Given the description of an element on the screen output the (x, y) to click on. 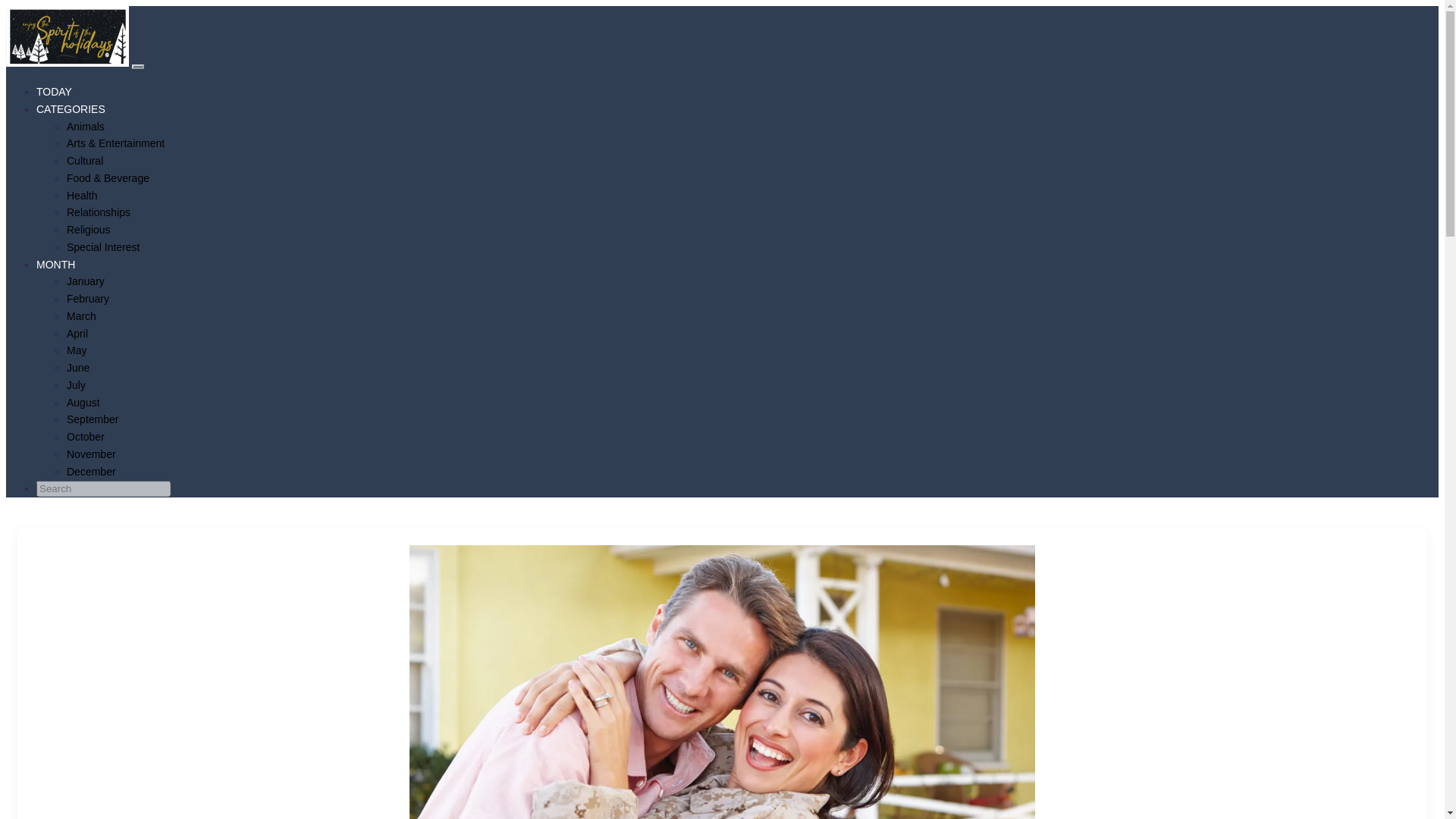
TODAY (53, 91)
Health (81, 195)
CATEGORIES (70, 109)
Relationships (98, 212)
December (91, 471)
Religious (88, 229)
April (76, 333)
June (77, 367)
November (91, 453)
Special Interest (102, 246)
August (83, 401)
September (91, 419)
March (81, 316)
Cultural (84, 160)
July (75, 385)
